Given the description of an element on the screen output the (x, y) to click on. 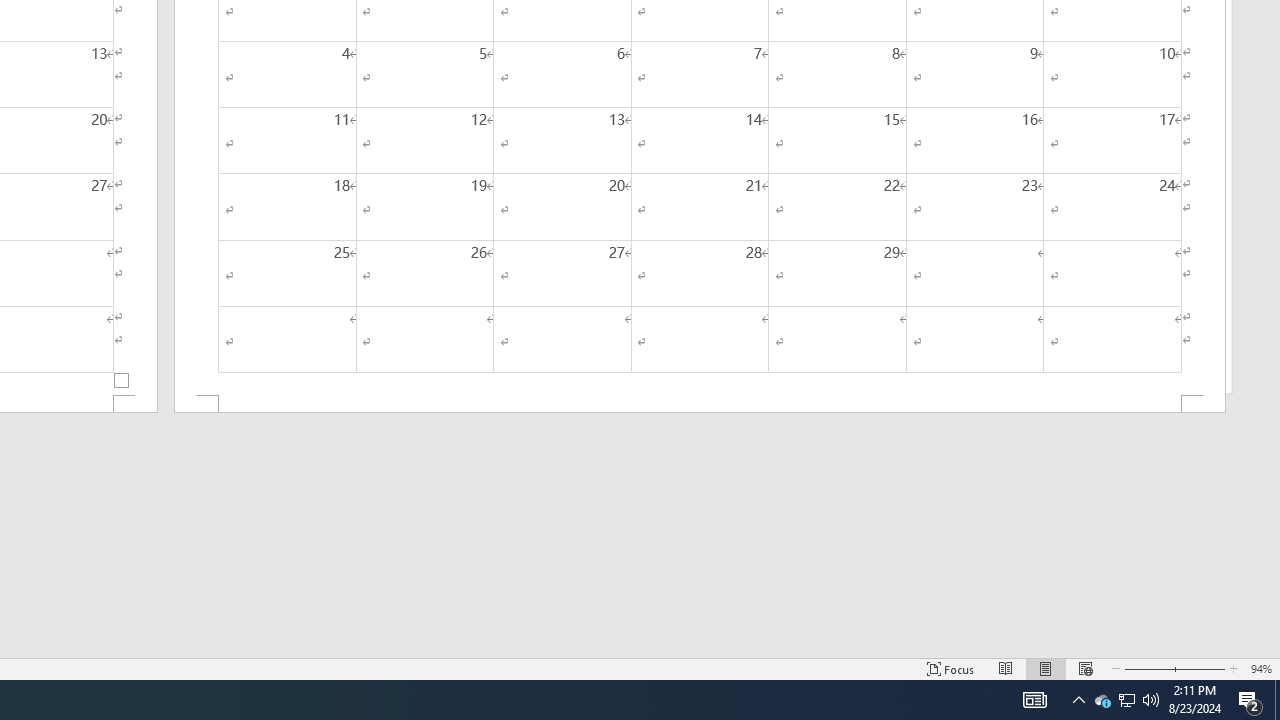
Footer -Section 2- (700, 404)
